Given the description of an element on the screen output the (x, y) to click on. 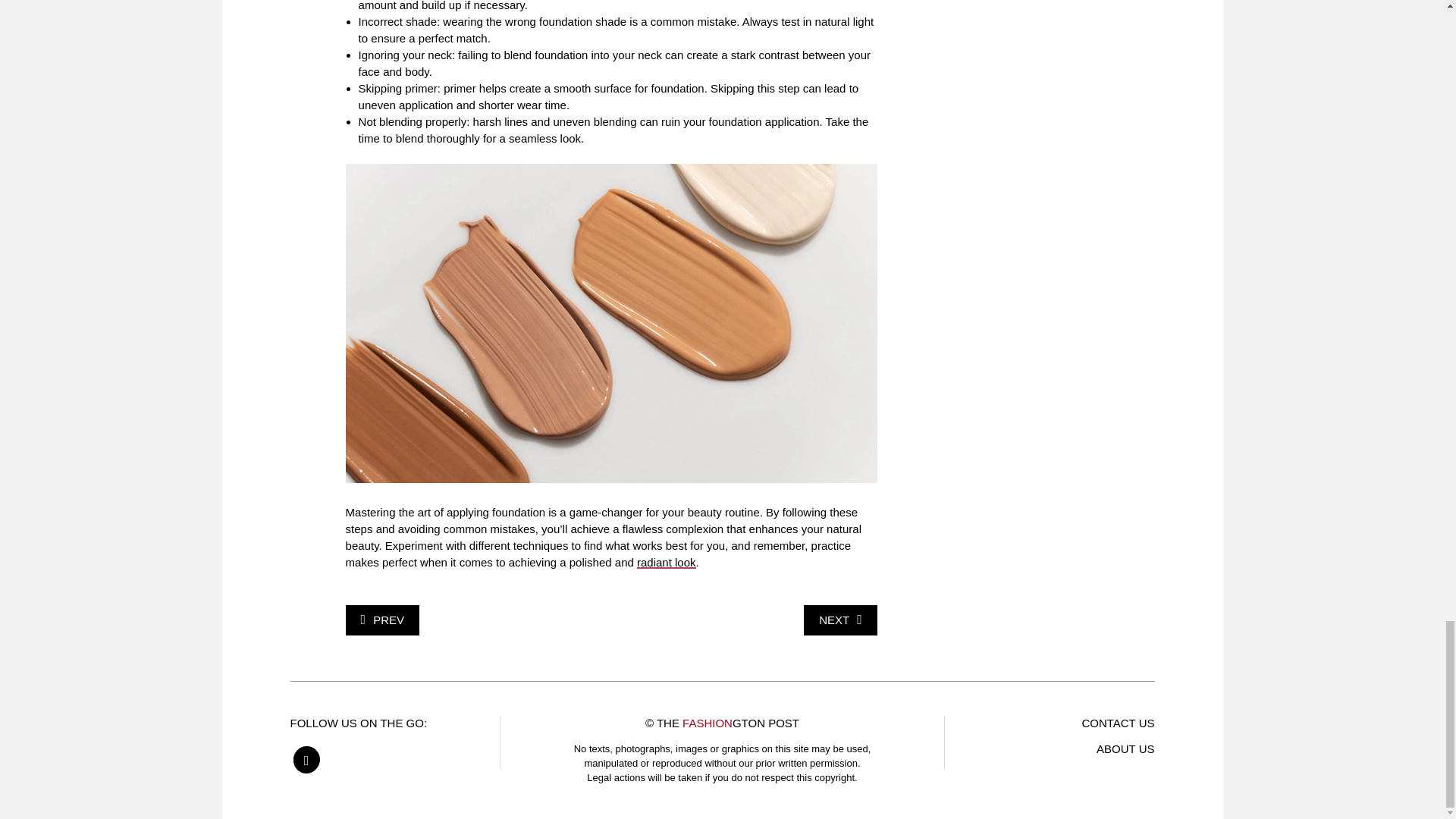
THE FASHIONGTON POST (727, 722)
NEXT (840, 620)
ABOUT US (1125, 748)
radiant look (666, 562)
CONTACT US (1117, 722)
PREV (382, 620)
